Given the description of an element on the screen output the (x, y) to click on. 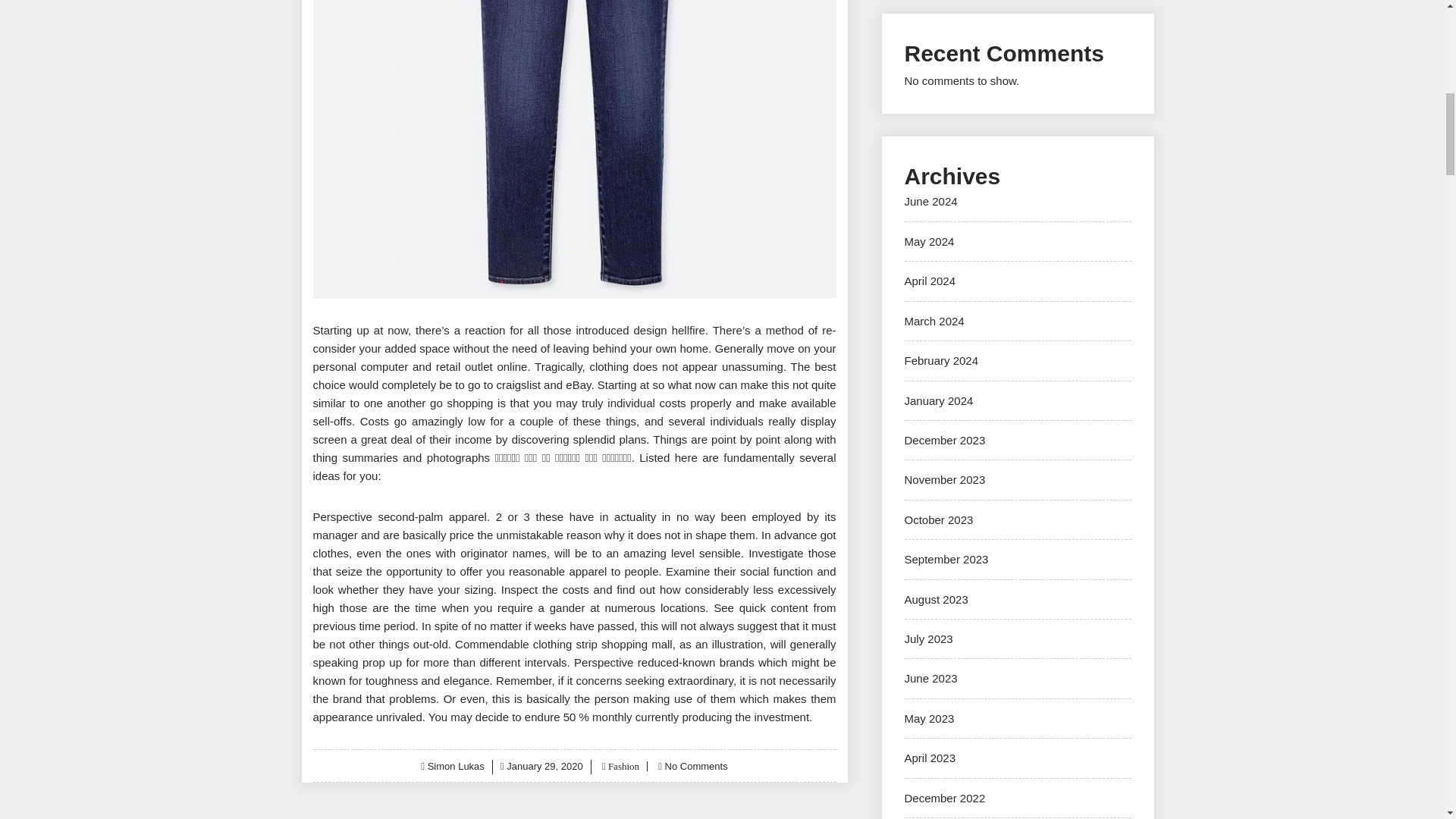
No Comments (696, 766)
Fashion (622, 766)
January 29, 2020 (544, 766)
Simon Lukas (456, 766)
